Given the description of an element on the screen output the (x, y) to click on. 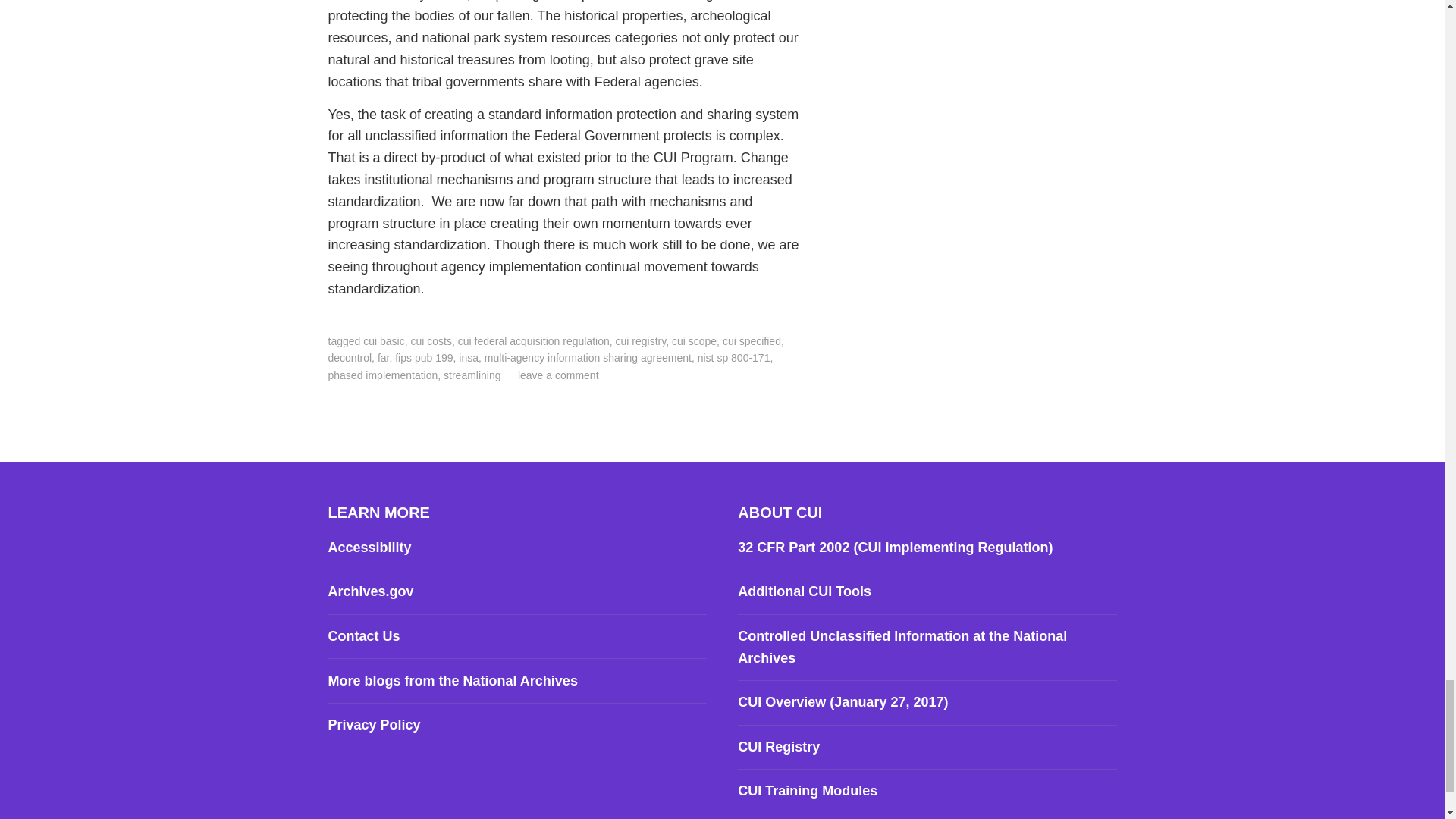
Coversheets, trifolds, and other resources (804, 590)
multi-agency information sharing agreement (587, 357)
cui registry (640, 340)
nist sp 800-171 (733, 357)
CUI training on archives.gov (807, 790)
leave a comment (558, 375)
National Archives privacy policy (373, 724)
cui scope (693, 340)
cui costs (430, 340)
streamlining (472, 375)
Contact information (362, 635)
YouTube video on CUI (842, 702)
Federal Register Rule Addressing CUI (895, 547)
